Given the description of an element on the screen output the (x, y) to click on. 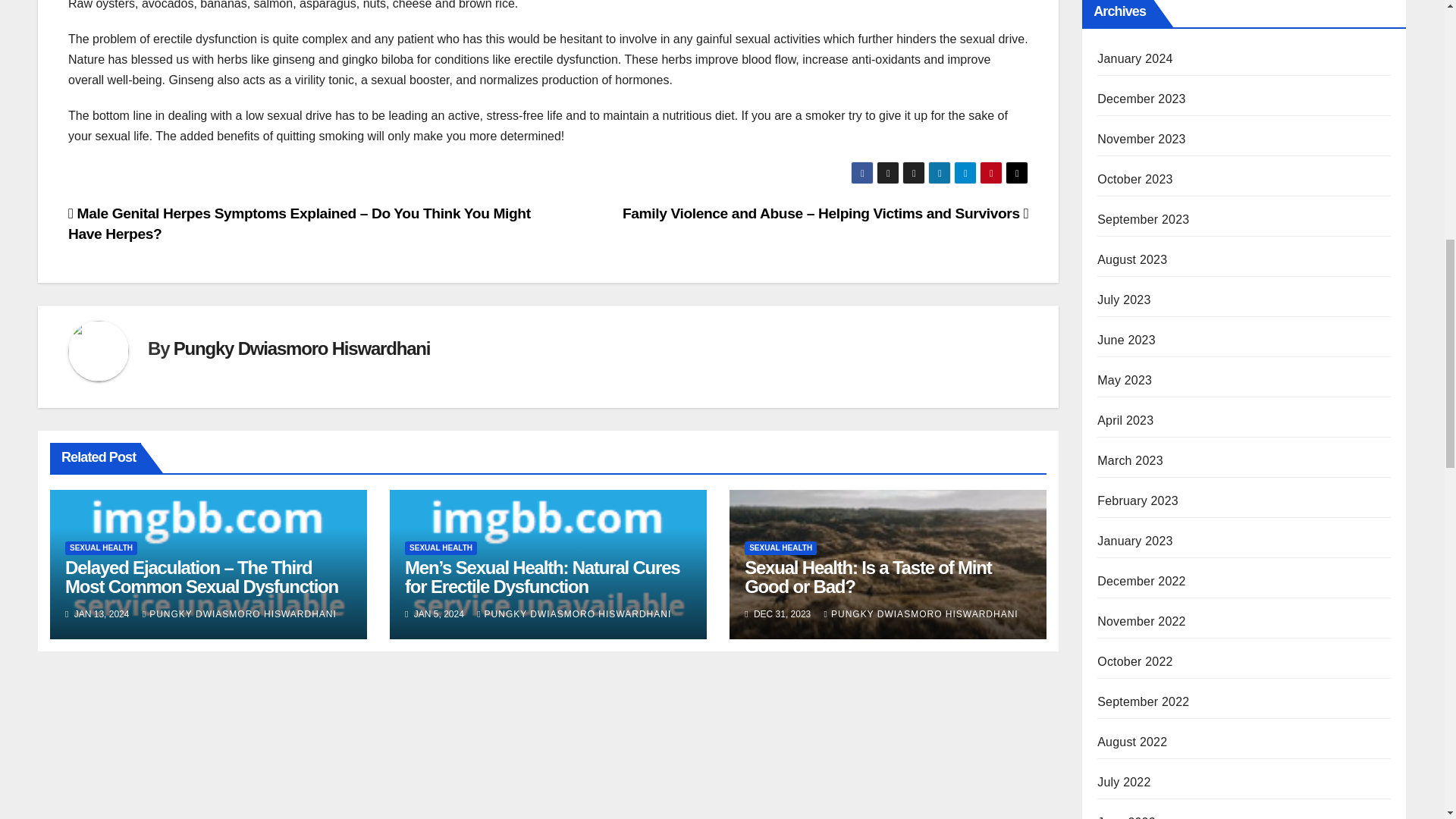
Permalink to: Sexual Health: Is a Taste of Mint Good or Bad? (867, 577)
PUNGKY DWIASMORO HISWARDHANI (239, 614)
Pungky Dwiasmoro Hiswardhani (301, 348)
SEXUAL HEALTH (100, 548)
